Given the description of an element on the screen output the (x, y) to click on. 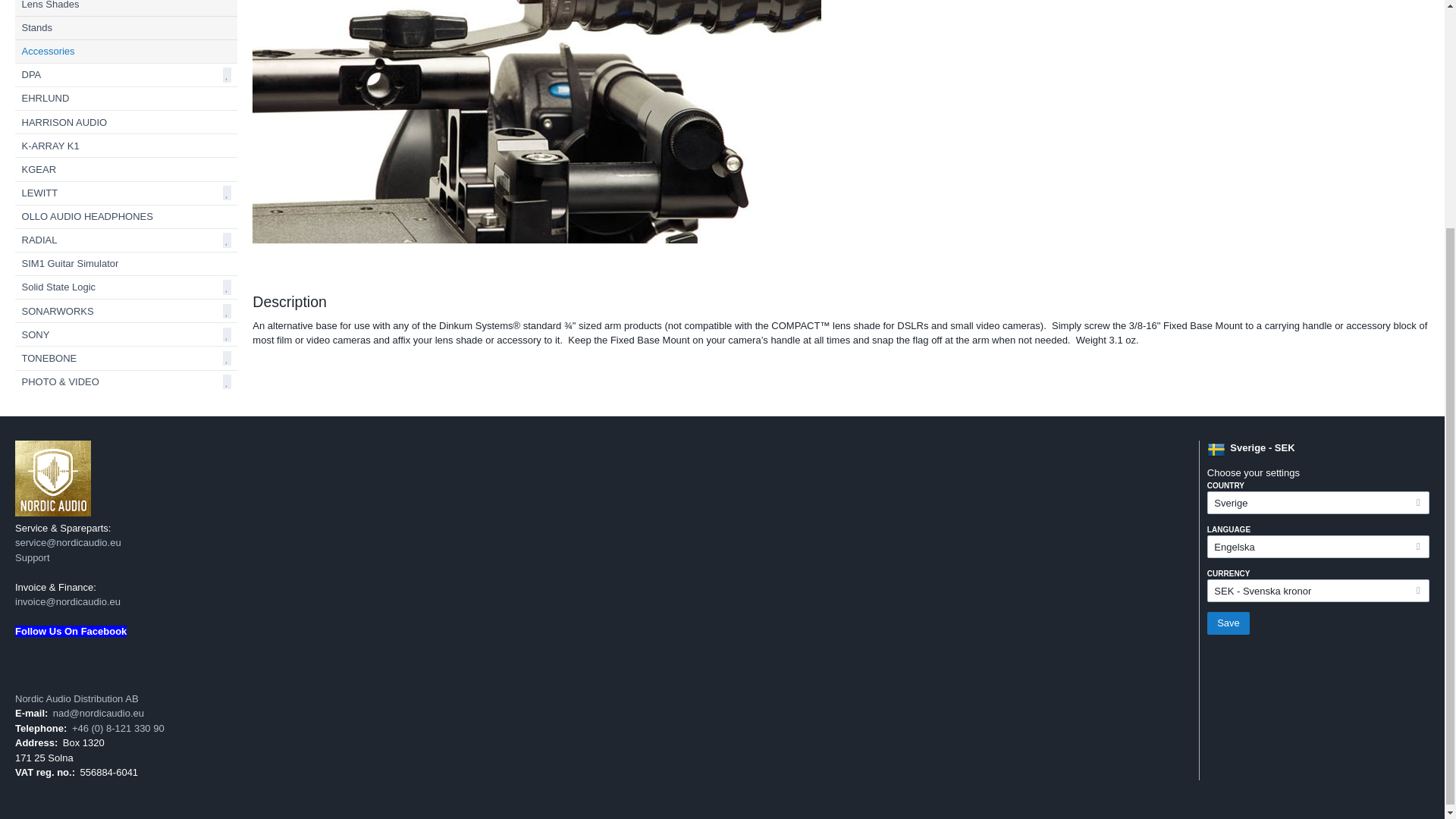
Engelska (1318, 546)
Lens Shades (125, 7)
Sverige (1318, 502)
Save (1228, 622)
SEK - Svenska kronor (1318, 590)
